Given the description of an element on the screen output the (x, y) to click on. 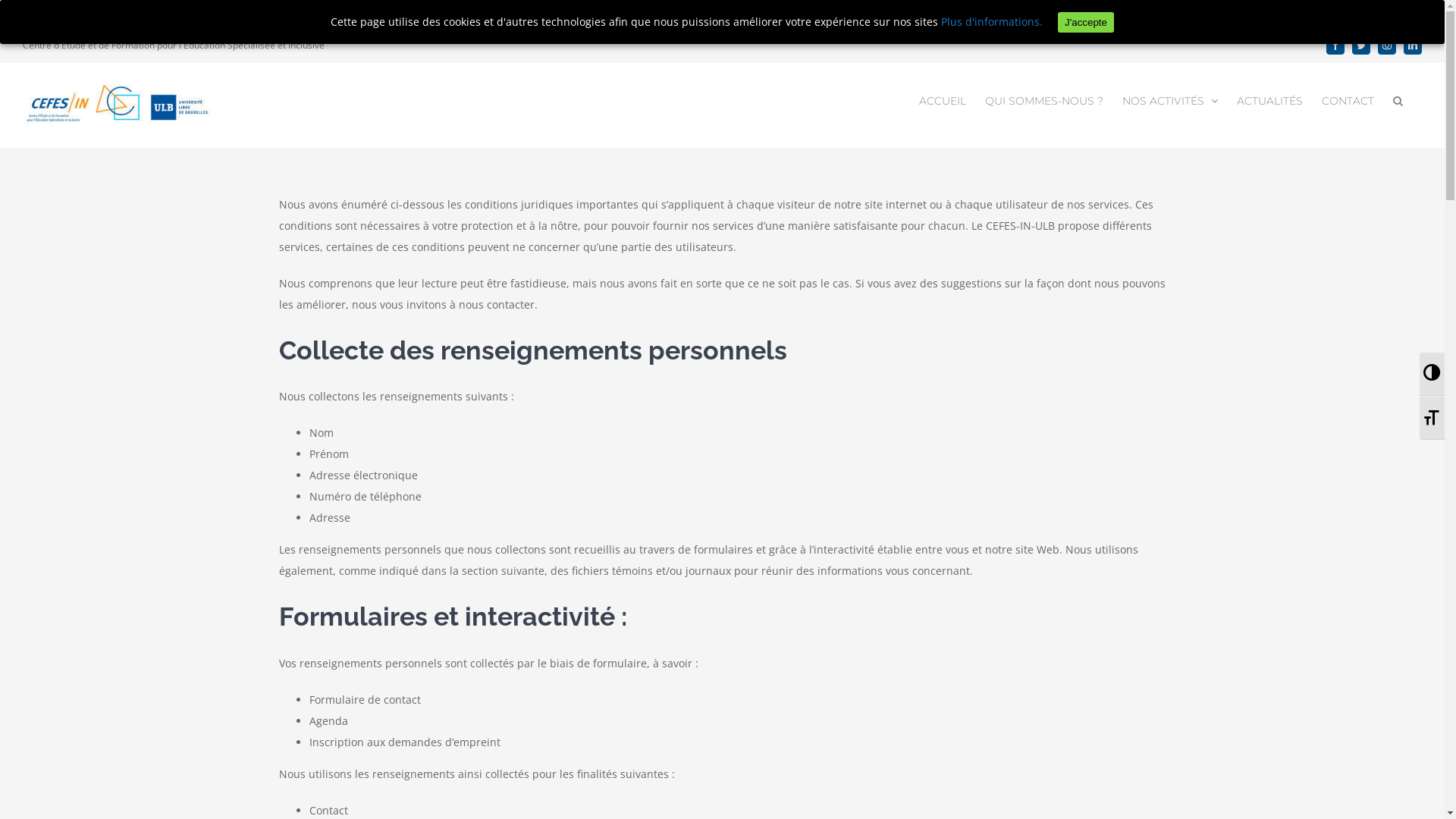
J'accepte Element type: text (1085, 22)
Plus d'informations. Element type: text (991, 21)
Twitter Element type: text (1361, 45)
Changer la taille de la police Element type: text (1431, 417)
QUI SOMMES-NOUS ? Element type: text (1044, 99)
LinkedIn Element type: text (1412, 45)
Instagram Element type: text (1386, 45)
Recherche Element type: hover (1397, 99)
CONTACT Element type: text (1347, 99)
Facebook Element type: text (1335, 45)
ACCUEIL Element type: text (942, 99)
En savoir plus ou s'opposer Element type: text (999, 12)
